Given the description of an element on the screen output the (x, y) to click on. 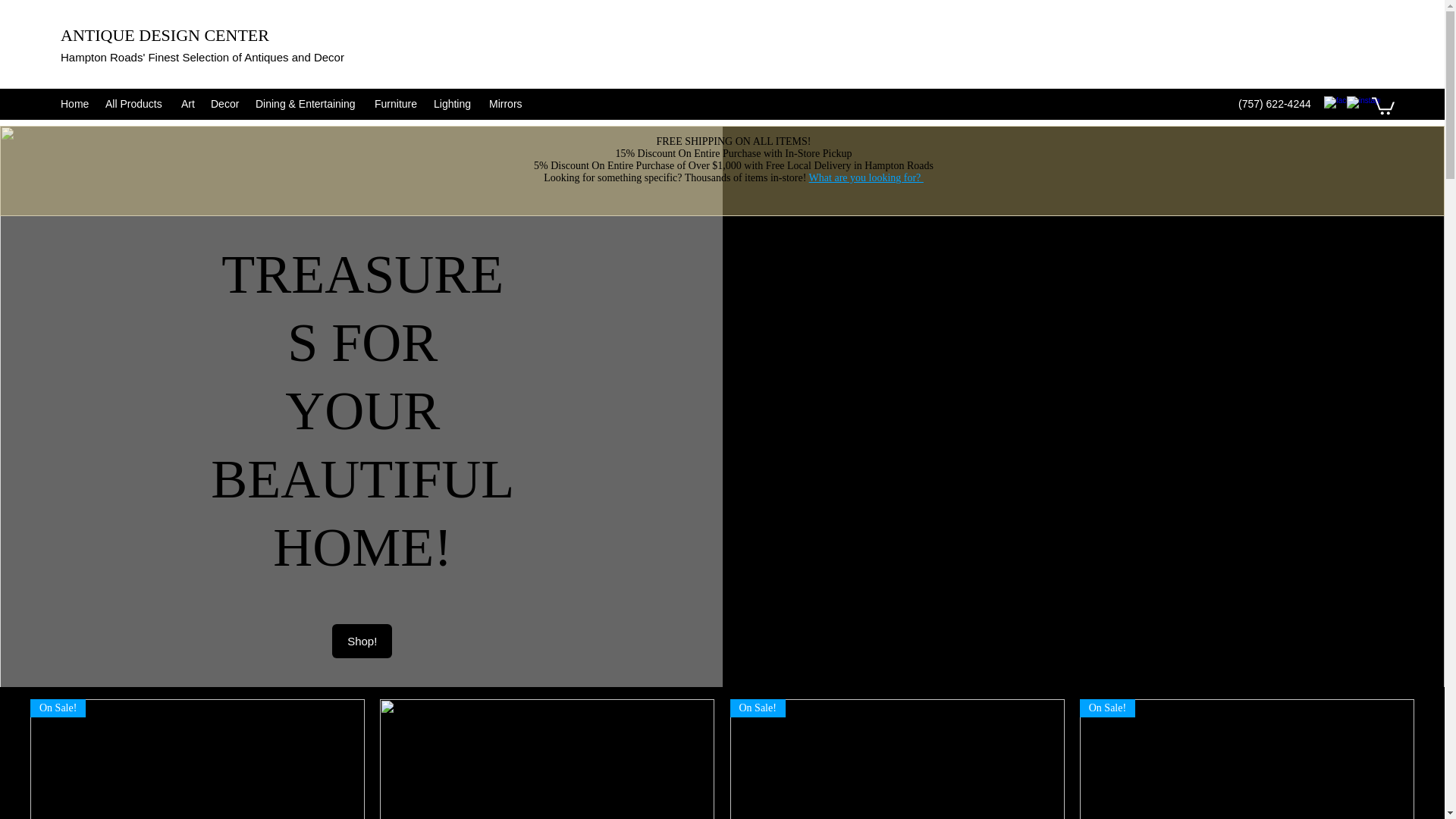
Home (74, 104)
Mirrors (506, 104)
All Products (135, 104)
On Sale! (1246, 759)
Decor (225, 104)
On Sale! (197, 759)
Furniture (396, 104)
On Sale! (896, 759)
ANTIQUE DESIGN CENTER (165, 35)
What are you looking for?  (866, 177)
